Given the description of an element on the screen output the (x, y) to click on. 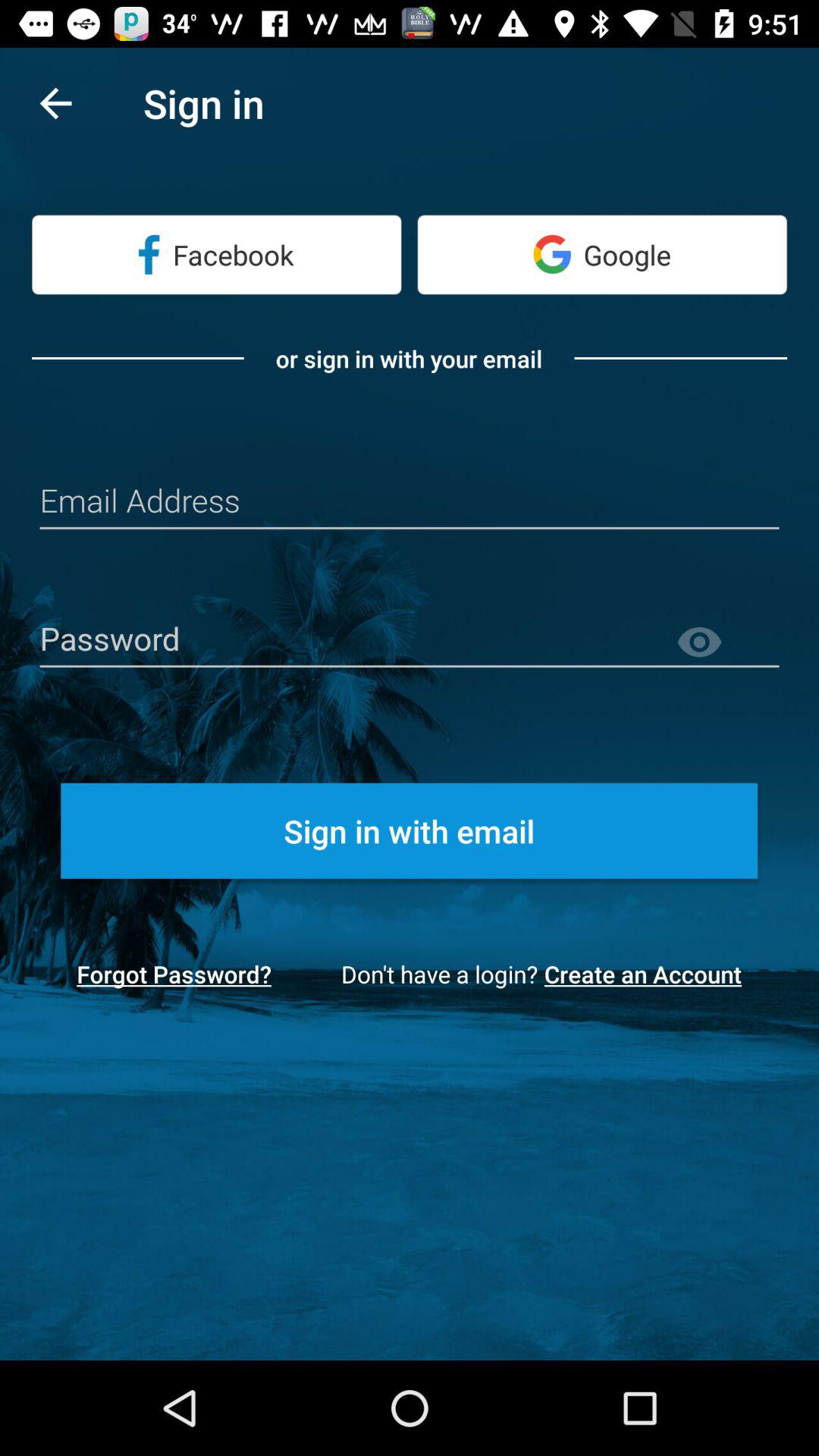
enter password (409, 640)
